Given the description of an element on the screen output the (x, y) to click on. 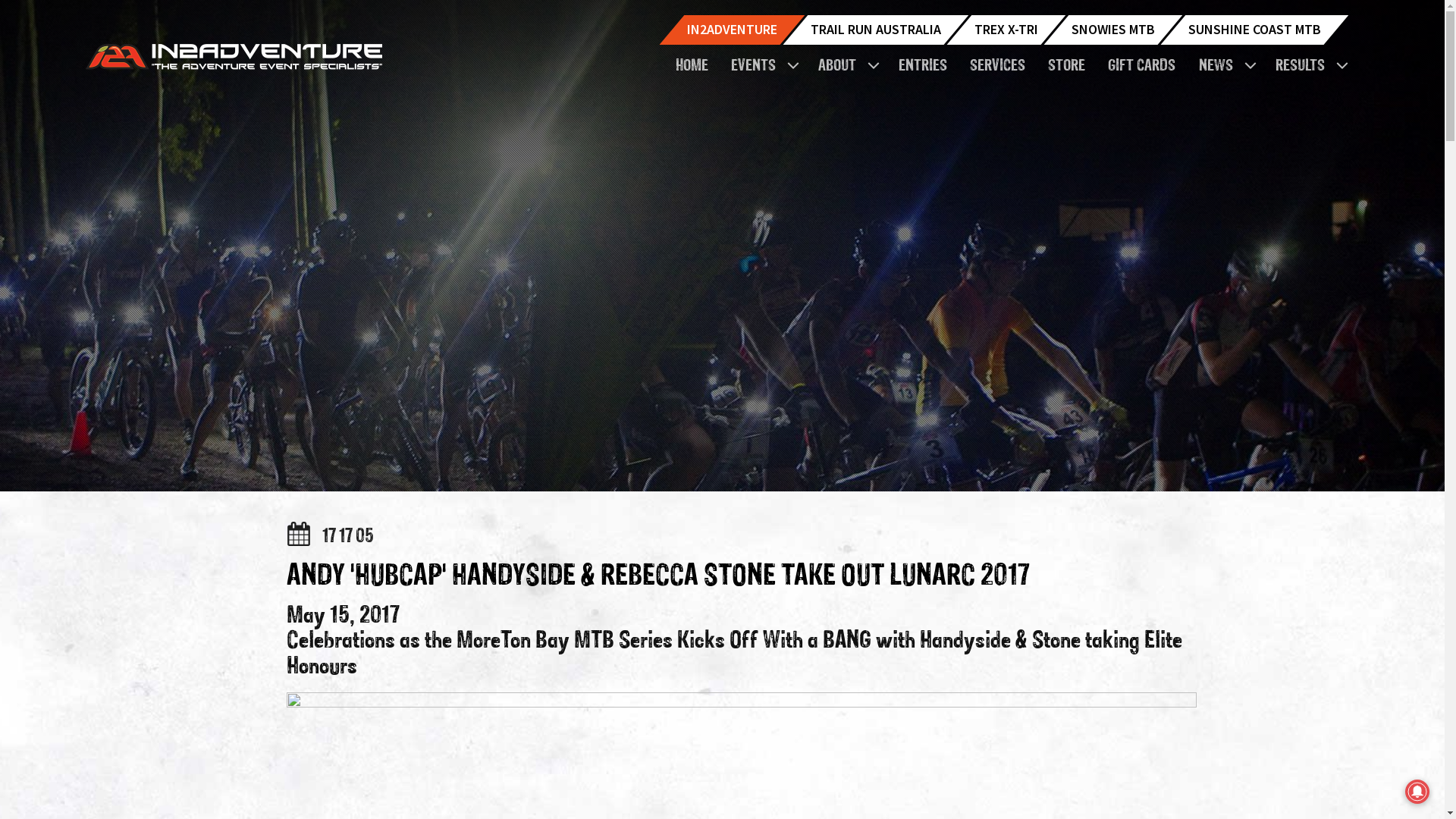
ENTRIES Element type: text (925, 66)
TRAIL RUN AUSTRALIA Element type: text (874, 29)
SUNSHINE COAST MTB Element type: text (1253, 29)
STORE Element type: text (1070, 66)
TREX X-TRI Element type: text (1005, 29)
GIFT CARDS Element type: text (1145, 66)
IN2ADVENTURE Element type: text (731, 29)
SNOWIES MTB Element type: text (1112, 29)
HOME Element type: text (694, 66)
SERVICES Element type: text (1000, 66)
